Given the description of an element on the screen output the (x, y) to click on. 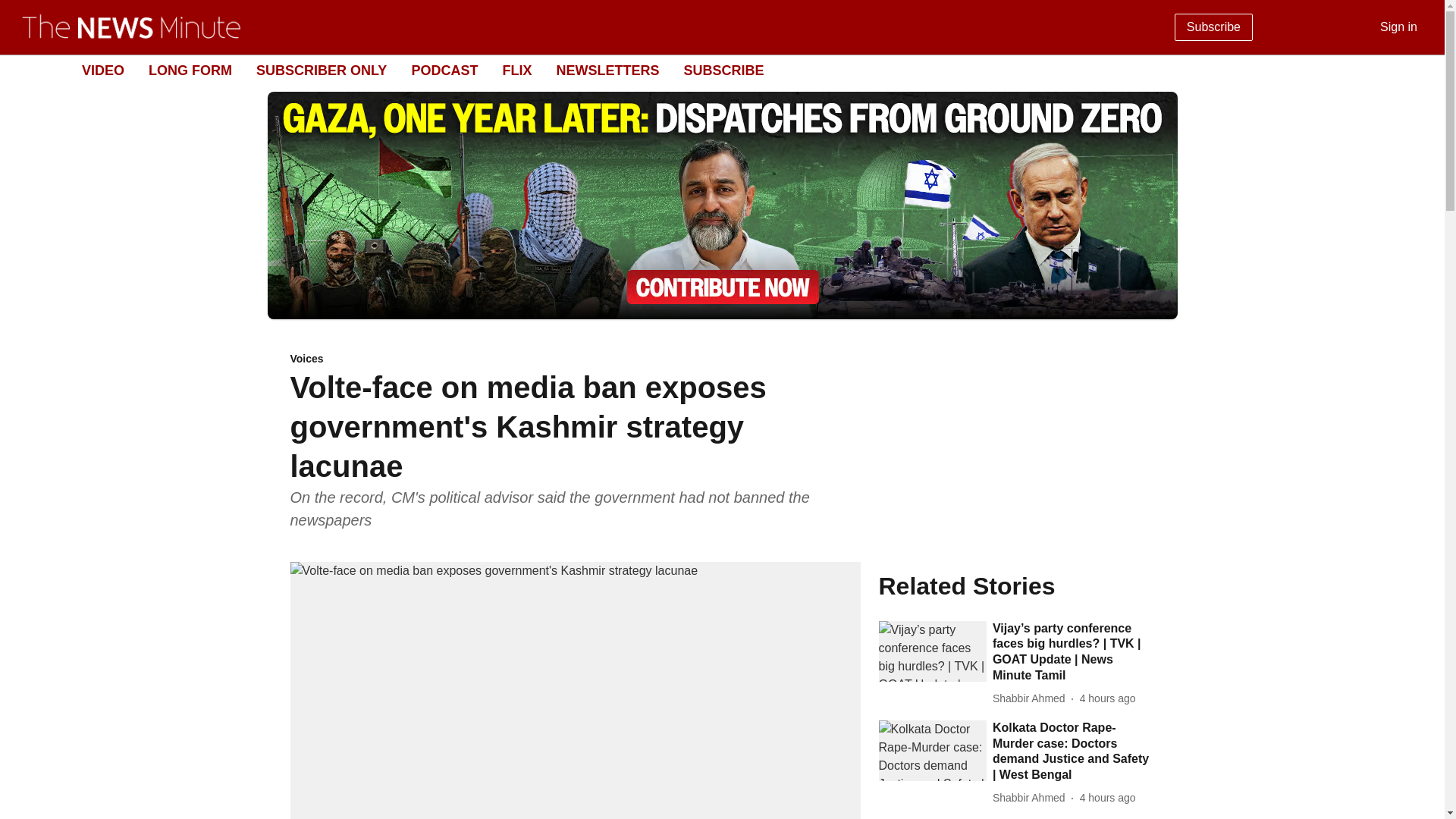
SUBSCRIBER ONLY (321, 70)
FLIX (516, 70)
VIDEO (102, 70)
2024-08-16 21:04 (1107, 797)
2024-08-16 21:06 (1107, 698)
Voices (574, 359)
Shabbir Ahmed (1031, 698)
NEWSLETTERS (607, 70)
SUBSCRIBE (722, 70)
